Given the description of an element on the screen output the (x, y) to click on. 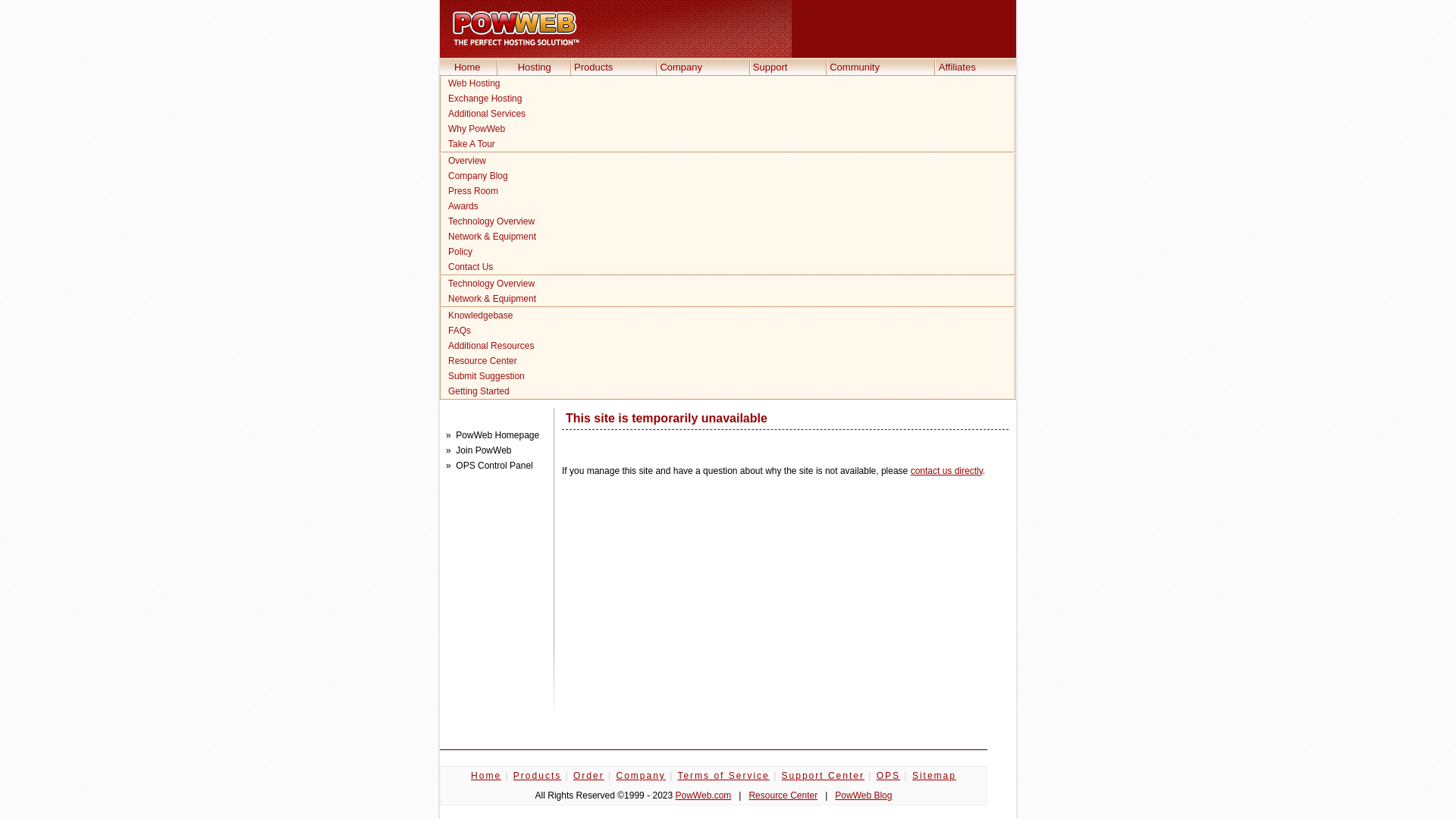
Terms of Service Element type: text (722, 775)
OPS Control Panel Element type: text (493, 465)
PowWeb Homepage Element type: text (497, 434)
Resource Center Element type: text (782, 795)
Additional Services Element type: text (727, 113)
Network & Equipment Element type: text (727, 236)
Overview Element type: text (727, 160)
OPS Element type: text (888, 775)
Company Element type: text (640, 775)
Products Element type: text (537, 775)
Home Element type: text (485, 775)
Awards Element type: text (727, 205)
contact us directly Element type: text (946, 470)
Knowledgebase Element type: text (727, 315)
Join PowWeb Element type: text (483, 450)
Company Element type: text (680, 66)
Additional Resources Element type: text (727, 345)
Sitemap Element type: text (934, 775)
Company Blog Element type: text (727, 175)
Affiliates Element type: text (956, 66)
Web Hosting Element type: text (727, 83)
Products Element type: text (593, 66)
Technology Overview Element type: text (727, 283)
Community Element type: text (854, 66)
Hosting Element type: text (534, 66)
Policy Element type: text (727, 251)
FAQs Element type: text (727, 330)
Contact Us Element type: text (727, 266)
Take A Tour Element type: text (727, 143)
Support Center Element type: text (822, 775)
PowWeb Blog Element type: text (862, 795)
Support Element type: text (770, 66)
Technology Overview Element type: text (727, 221)
PowWeb Hosting Homepage Element type: hover (515, 28)
Resource Center Element type: text (727, 360)
Home Element type: text (467, 66)
Why PowWeb Element type: text (727, 128)
Exchange Hosting Element type: text (727, 98)
Press Room Element type: text (727, 190)
Network & Equipment Element type: text (727, 298)
PowWeb.com Element type: text (702, 795)
Submit Suggestion Element type: text (727, 375)
Order Element type: text (588, 775)
Getting Started Element type: text (727, 390)
